Given the description of an element on the screen output the (x, y) to click on. 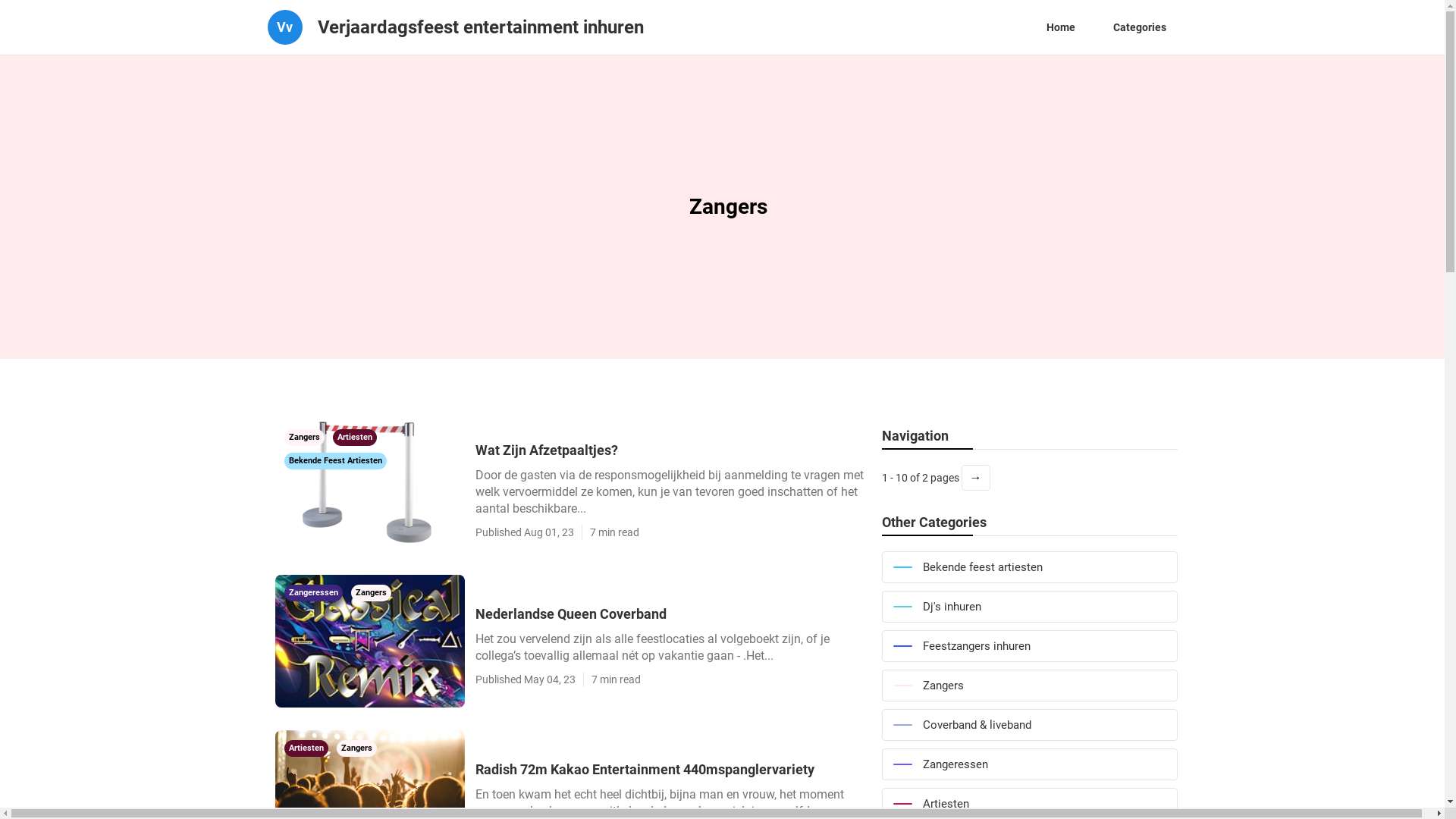
Nederlandse Queen Coverband Element type: text (670, 614)
Bekende feest artiesten Element type: text (1028, 567)
Feestzangers inhuren Element type: text (1028, 646)
Zangers Element type: text (304, 435)
Dj's inhuren Element type: text (1028, 606)
Zangeressen Element type: text (313, 591)
Categories Element type: text (1138, 26)
Artiesten Element type: text (354, 435)
Zangers Element type: text (370, 591)
Bekende Feest Artiesten Element type: text (334, 459)
Zangers Element type: text (356, 746)
Radish 72m Kakao Entertainment 440mspanglervariety Element type: text (670, 768)
Zangeressen Element type: text (1028, 764)
Zangers Element type: text (1028, 685)
Home Element type: text (1059, 26)
Wat Zijn Afzetpaaltjes? Element type: text (670, 450)
Coverband & liveband Element type: text (1028, 724)
Artiesten Element type: text (306, 746)
